Given the description of an element on the screen output the (x, y) to click on. 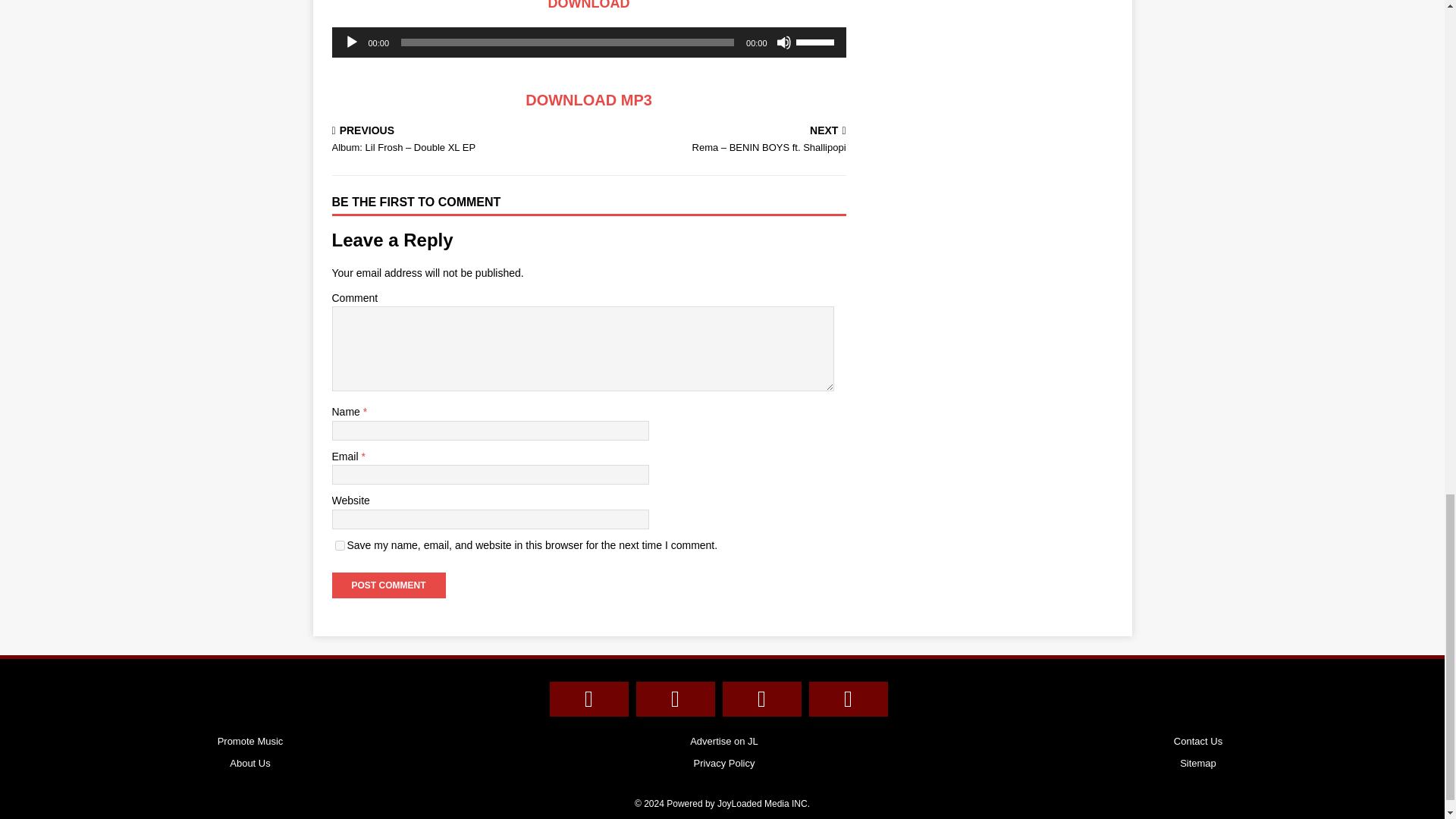
Privacy Policy (724, 764)
Play (351, 42)
Contact us (1198, 741)
Post Comment (388, 585)
DOWNLOAD (589, 5)
Post Comment (388, 585)
Follow us on Facebook (587, 698)
Follow us on Twitter (674, 698)
Follow us on Instagram (761, 698)
yes (339, 545)
Watch us on YouTube (847, 698)
Advertise (724, 741)
About Us (250, 764)
Sitemap (1198, 764)
Mute (784, 42)
